Given the description of an element on the screen output the (x, y) to click on. 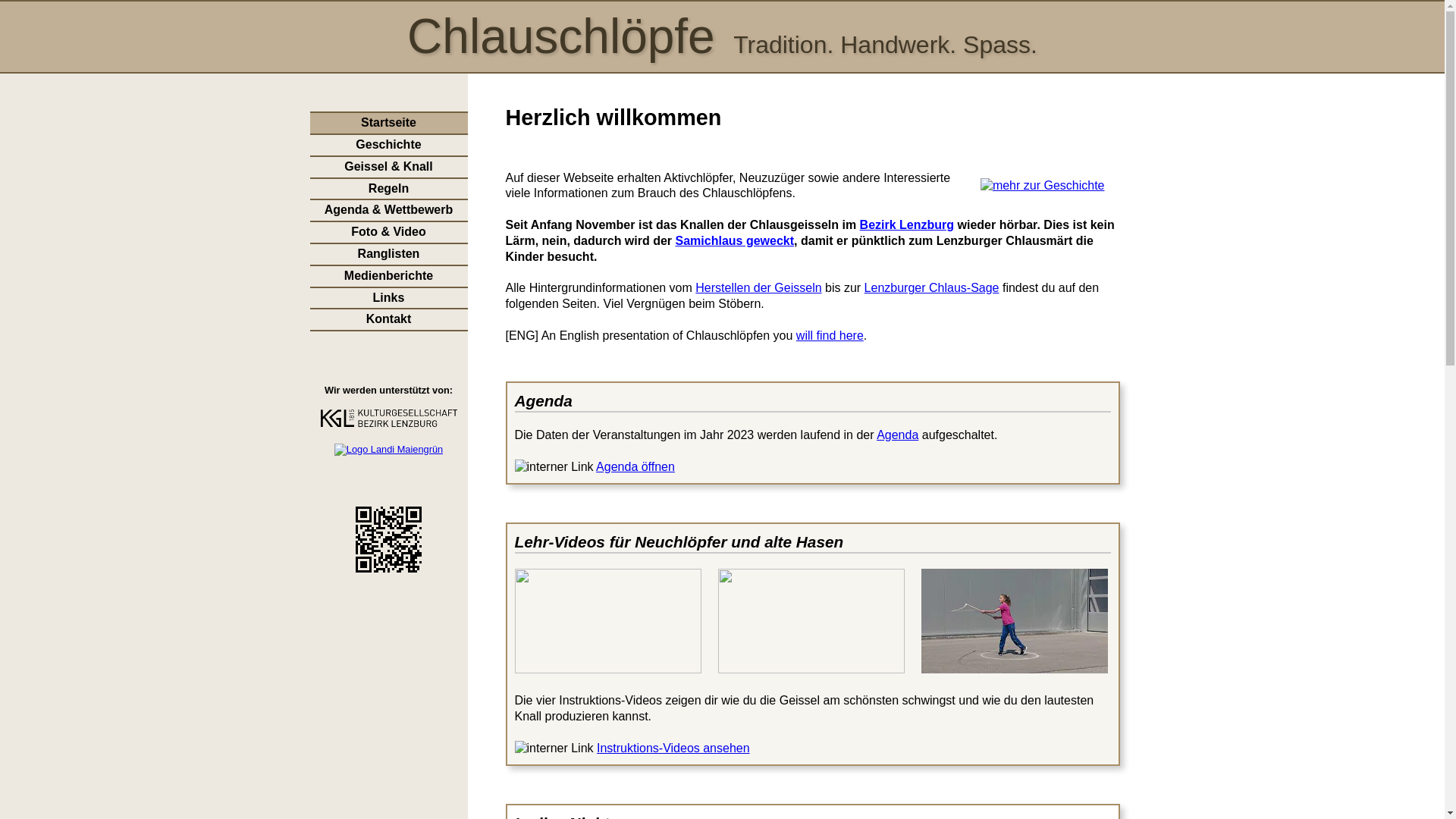
Geissel & Knall Element type: text (388, 166)
Medienberichte Element type: text (388, 276)
Tradition. Handwerk. Spass. Element type: text (885, 44)
mehr zur Geschichte Element type: hover (1042, 184)
Ranglisten Element type: text (388, 254)
Foto & Video Element type: text (388, 232)
Agenda & Wettbewerb Element type: text (388, 210)
Geschichte Element type: text (388, 144)
Kulturgesellschaft Bezirk Lenzburg Element type: hover (388, 423)
Regeln Element type: text (388, 188)
will find here Element type: text (829, 335)
Links Element type: text (388, 298)
Startseite Element type: text (388, 122)
Kontakt Element type: text (388, 319)
Instruktions-Videos ansehen Element type: text (672, 747)
Lenzburger Chlaus-Sage Element type: text (931, 287)
Herstellen der Geisseln Element type: text (758, 287)
QR-Code von chlauschloepfe.ch herunterladen Element type: hover (388, 568)
Samichlaus geweckt Element type: text (734, 240)
Bezirk Lenzburg Element type: text (906, 224)
Agenda Element type: text (897, 434)
